Given the description of an element on the screen output the (x, y) to click on. 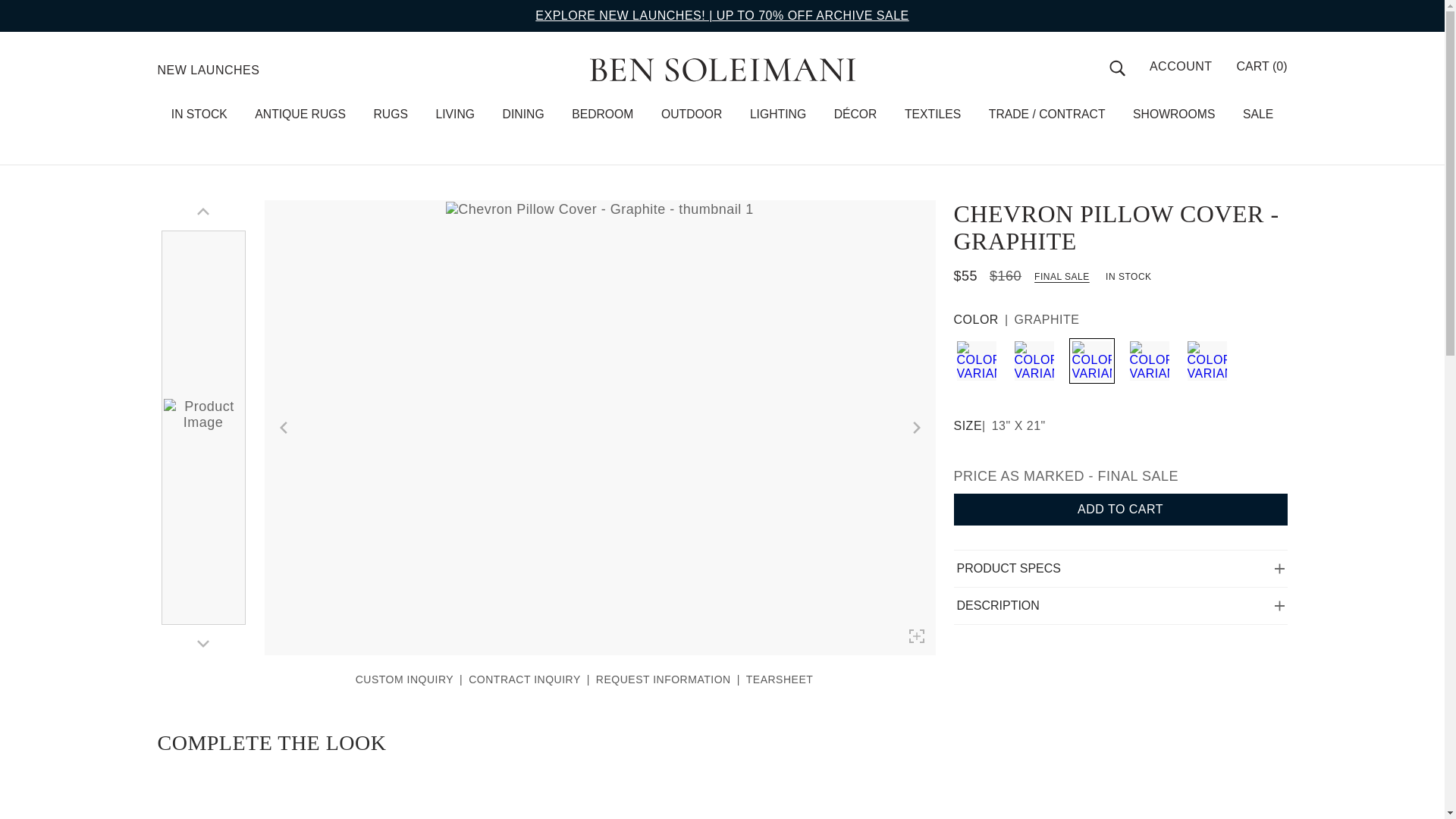
NEW LAUNCHES (208, 69)
ACCOUNT (1181, 66)
Ben Soleimani (722, 70)
IN STOCK (199, 113)
